Given the description of an element on the screen output the (x, y) to click on. 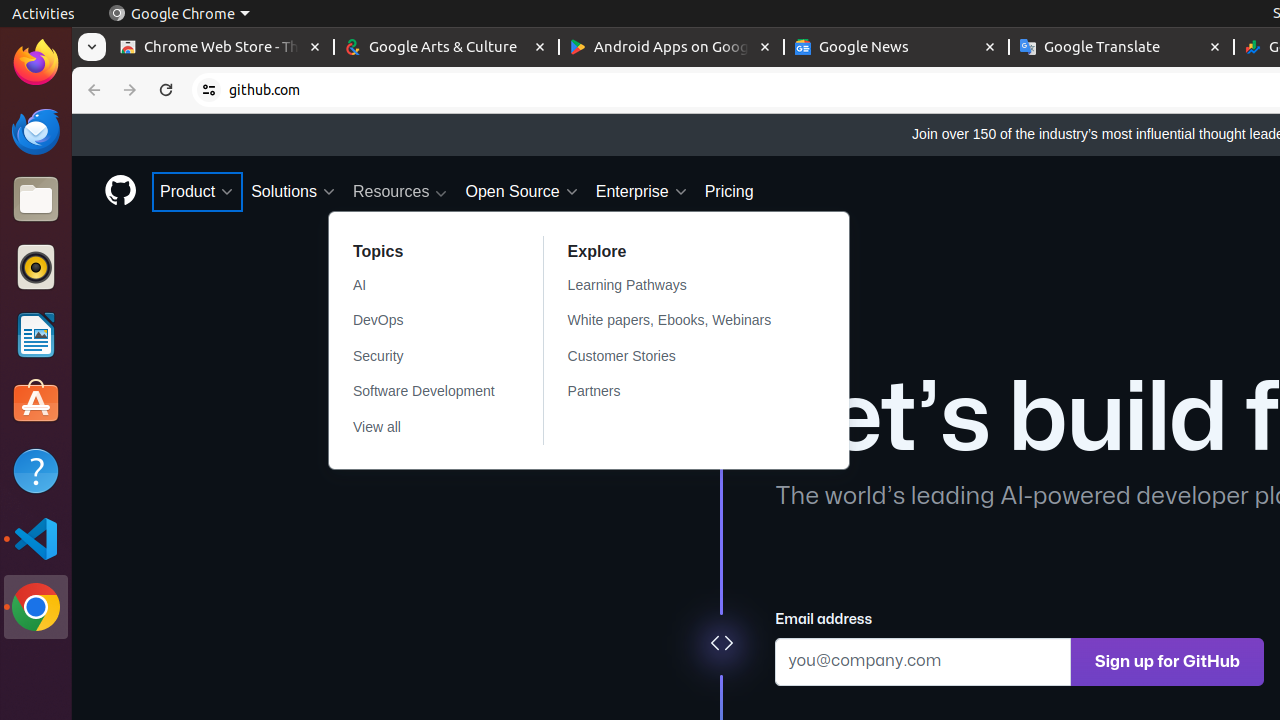
Google News - Memory usage - 51.2 MB Element type: page-tab (896, 47)
White papers, Ebooks, Webinars Element type: link (681, 321)
LibreOffice Writer Element type: push-button (36, 334)
View all Element type: link (423, 427)
Customer Stories Element type: link (681, 356)
